Given the description of an element on the screen output the (x, y) to click on. 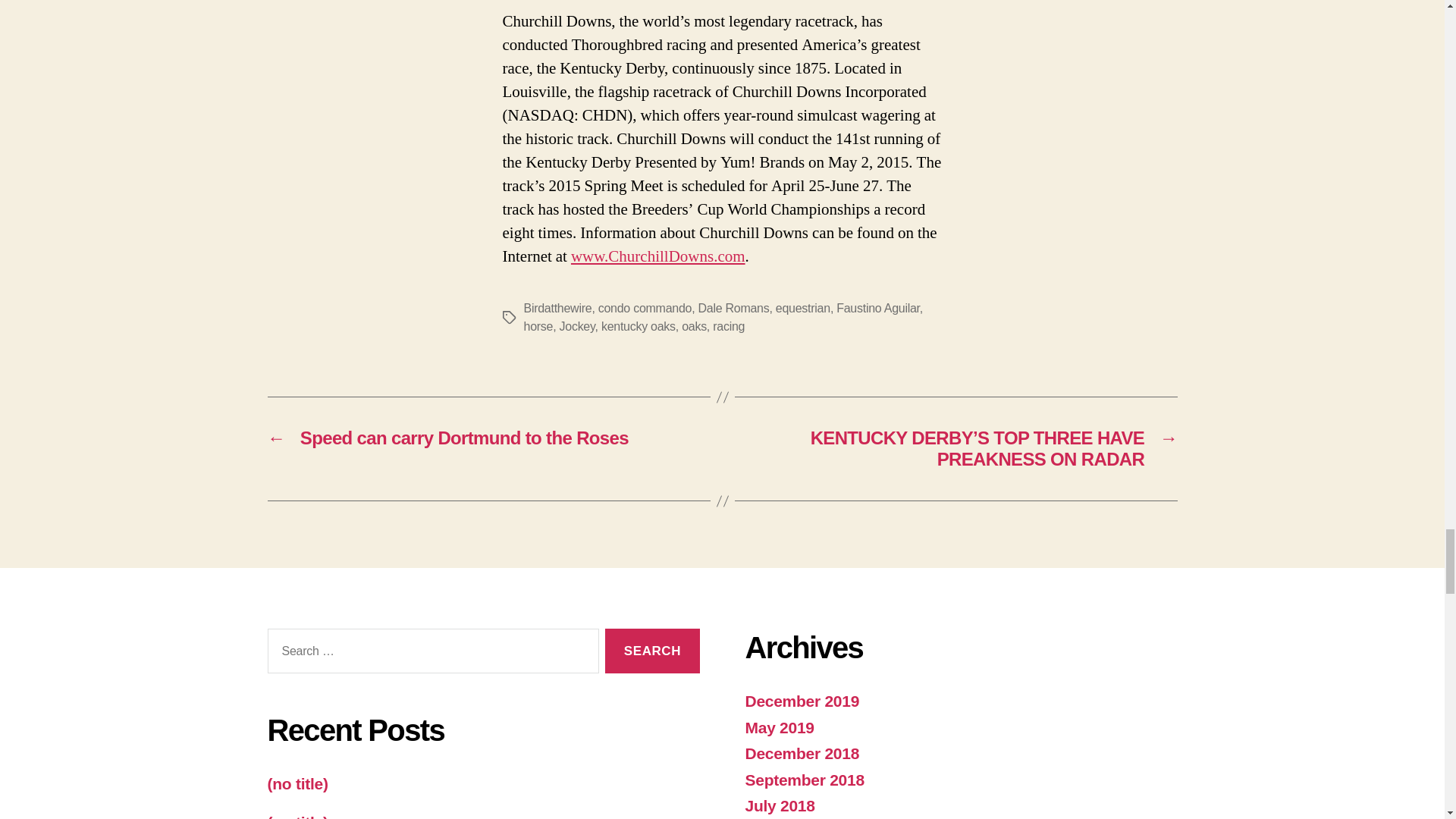
Birdatthewire (556, 308)
oaks (693, 326)
kentucky oaks (638, 326)
condo commando (644, 308)
racing (728, 326)
Search (651, 650)
Search (651, 650)
Search (651, 650)
horse (537, 326)
equestrian (802, 308)
